Given the description of an element on the screen output the (x, y) to click on. 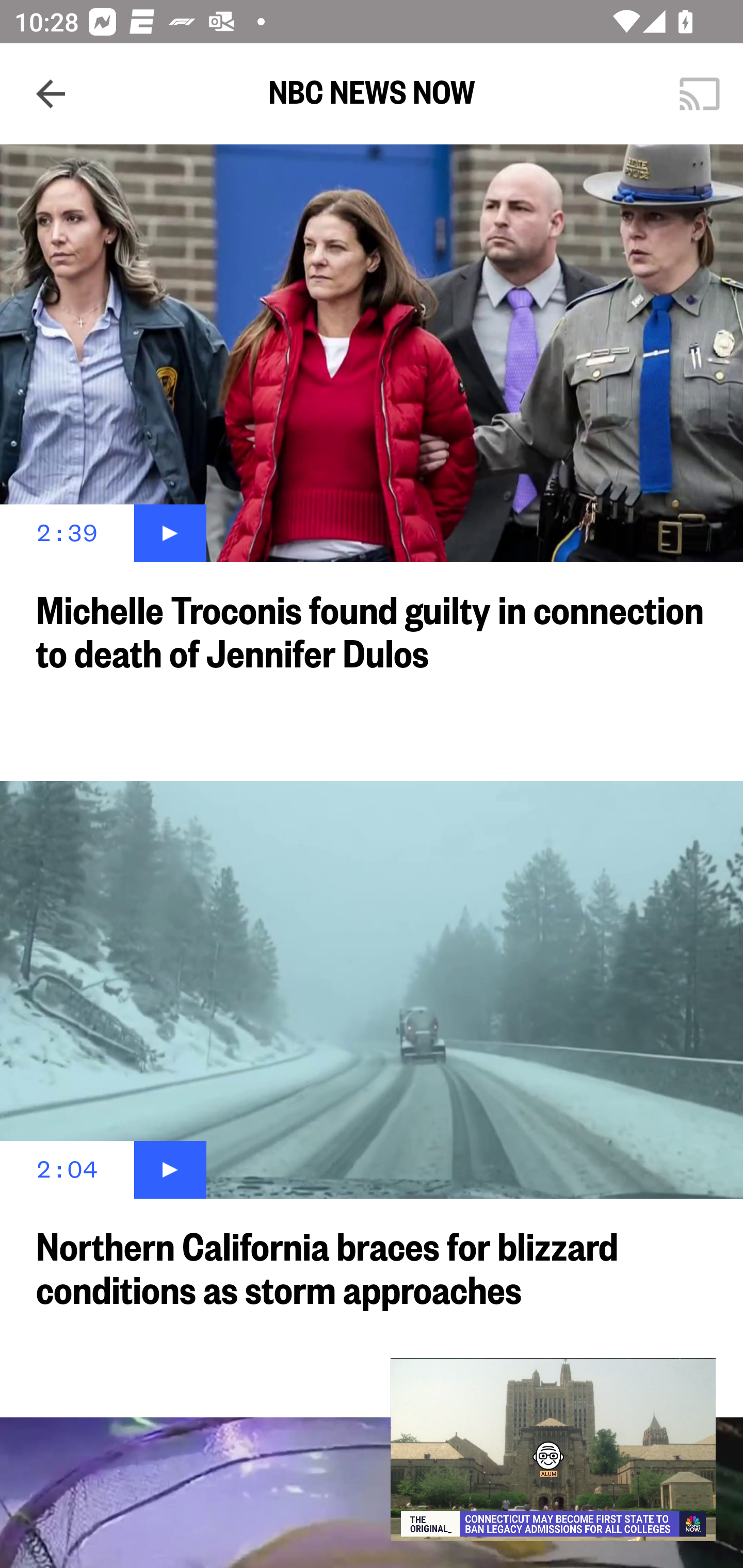
Navigate up (50, 93)
Cast. Disconnected (699, 93)
